Given the description of an element on the screen output the (x, y) to click on. 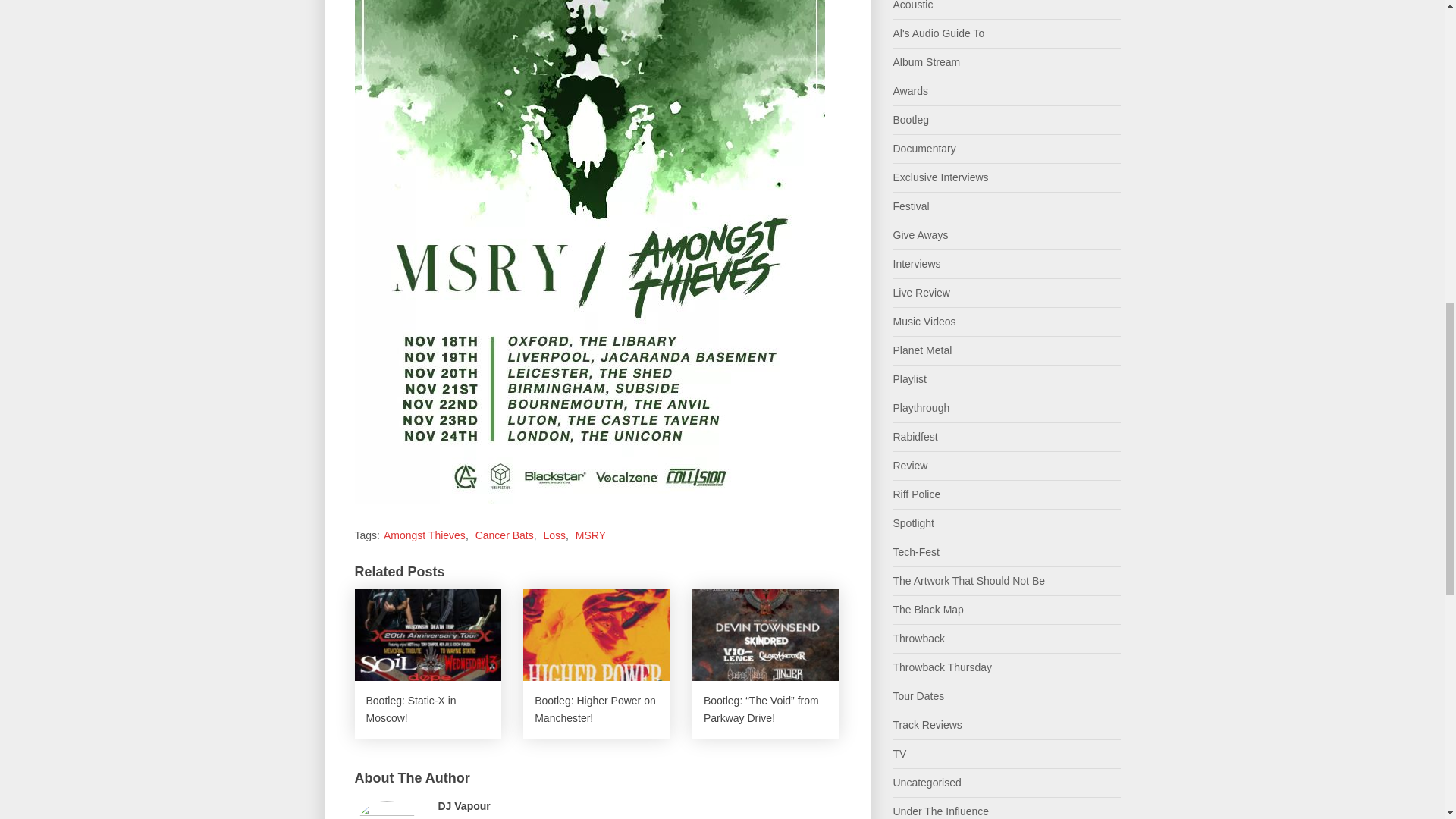
Bootleg: Higher Power on Manchester! (595, 663)
Loss (554, 535)
Amongst Thieves (424, 535)
Al's Audio Guide To (939, 33)
Bootleg: Static-X in Moscow! (427, 663)
MSRY (590, 535)
Bootleg: Higher Power on Manchester! (595, 663)
Acoustic (913, 5)
Bootleg: Static-X in Moscow! (427, 663)
Cancer Bats (505, 535)
